Given the description of an element on the screen output the (x, y) to click on. 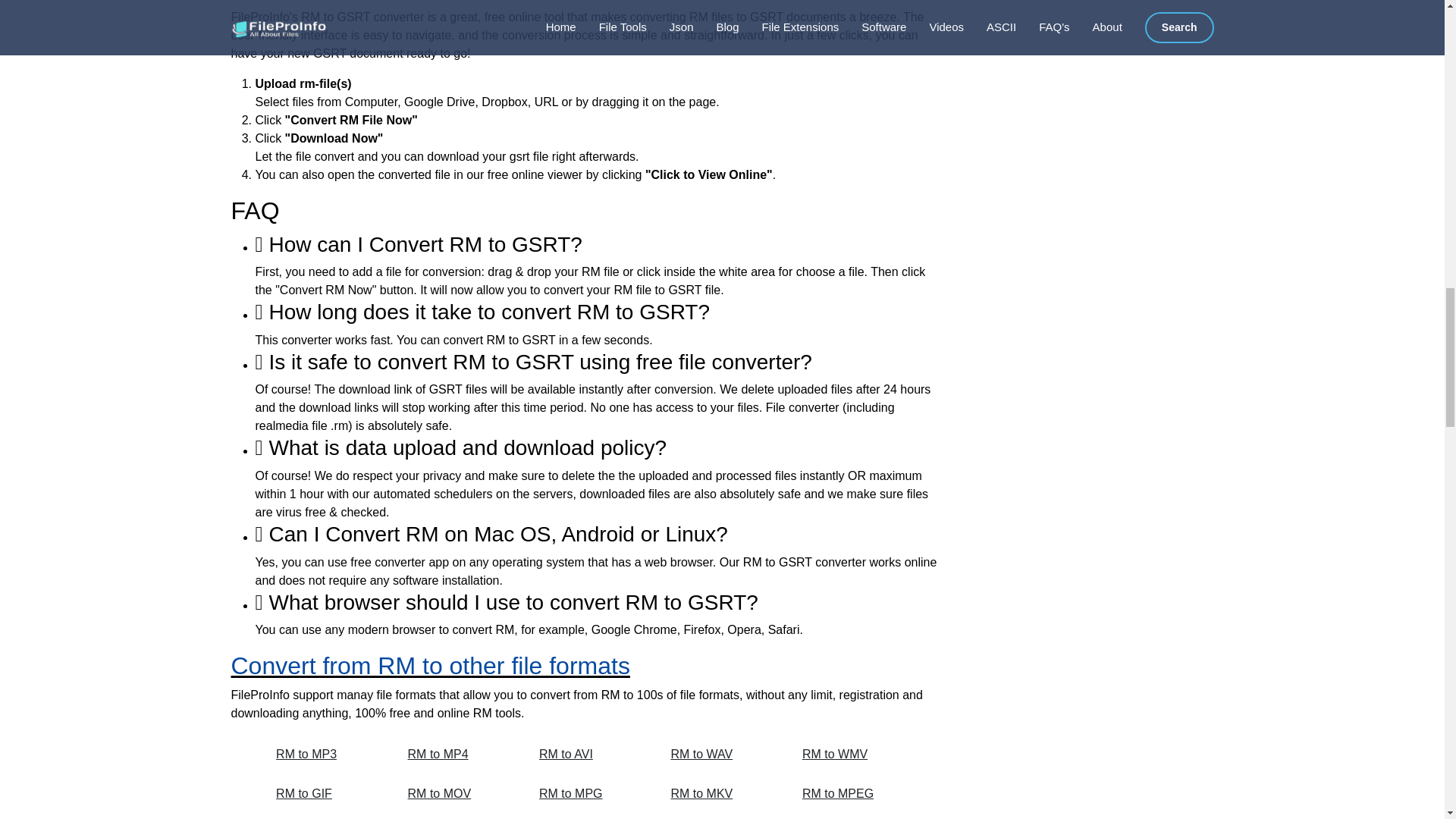
RM to MP3 (325, 754)
RM to AVI (587, 754)
RM to WAV (719, 754)
Convert from RM to other file formats (429, 665)
RM to MP4 (456, 754)
RM to WMV (851, 754)
RM to MPG (587, 793)
RM to MOV (456, 793)
RM to GIF (325, 793)
